Given the description of an element on the screen output the (x, y) to click on. 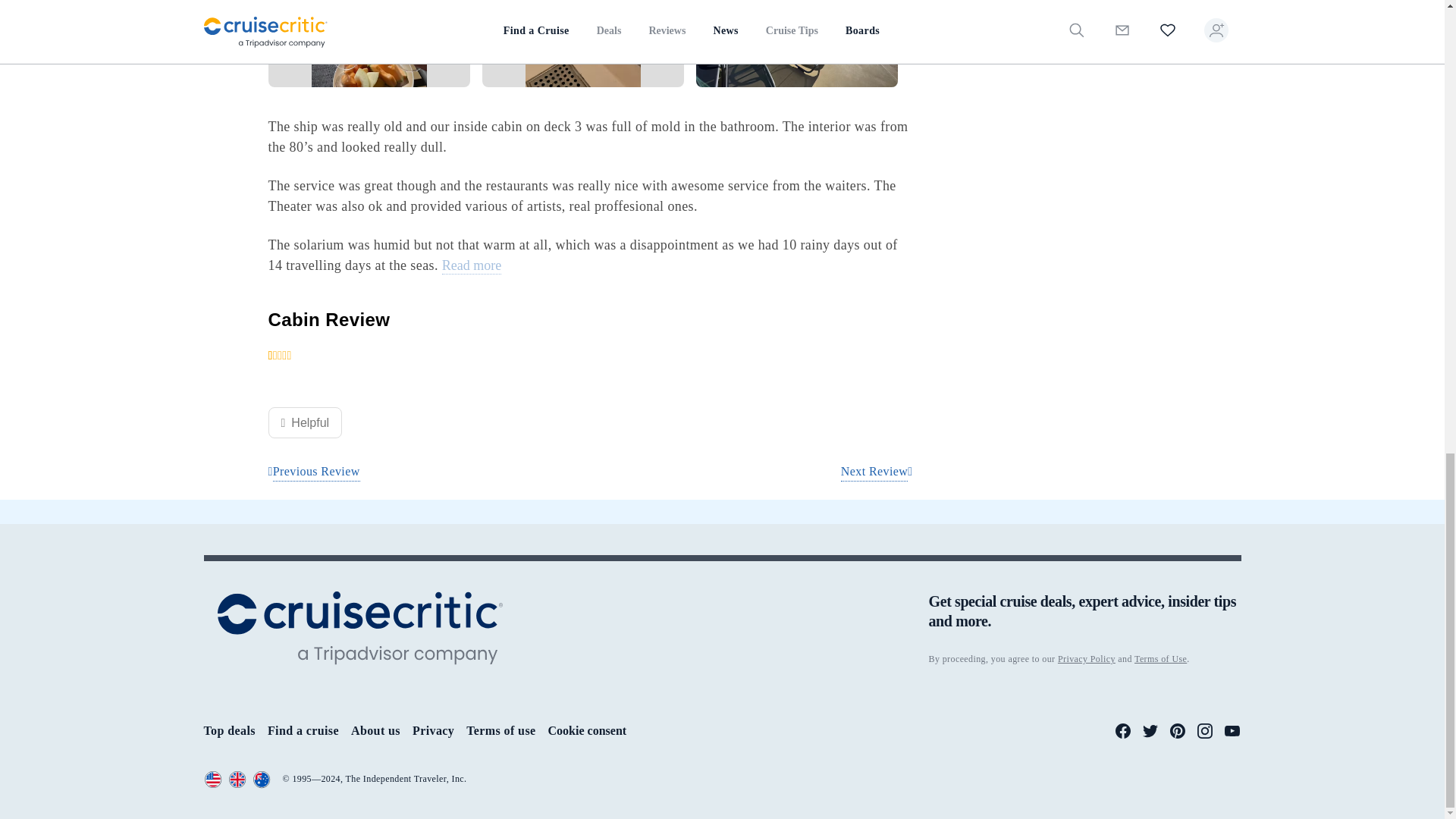
Read more (471, 265)
Helpful (304, 422)
